Given the description of an element on the screen output the (x, y) to click on. 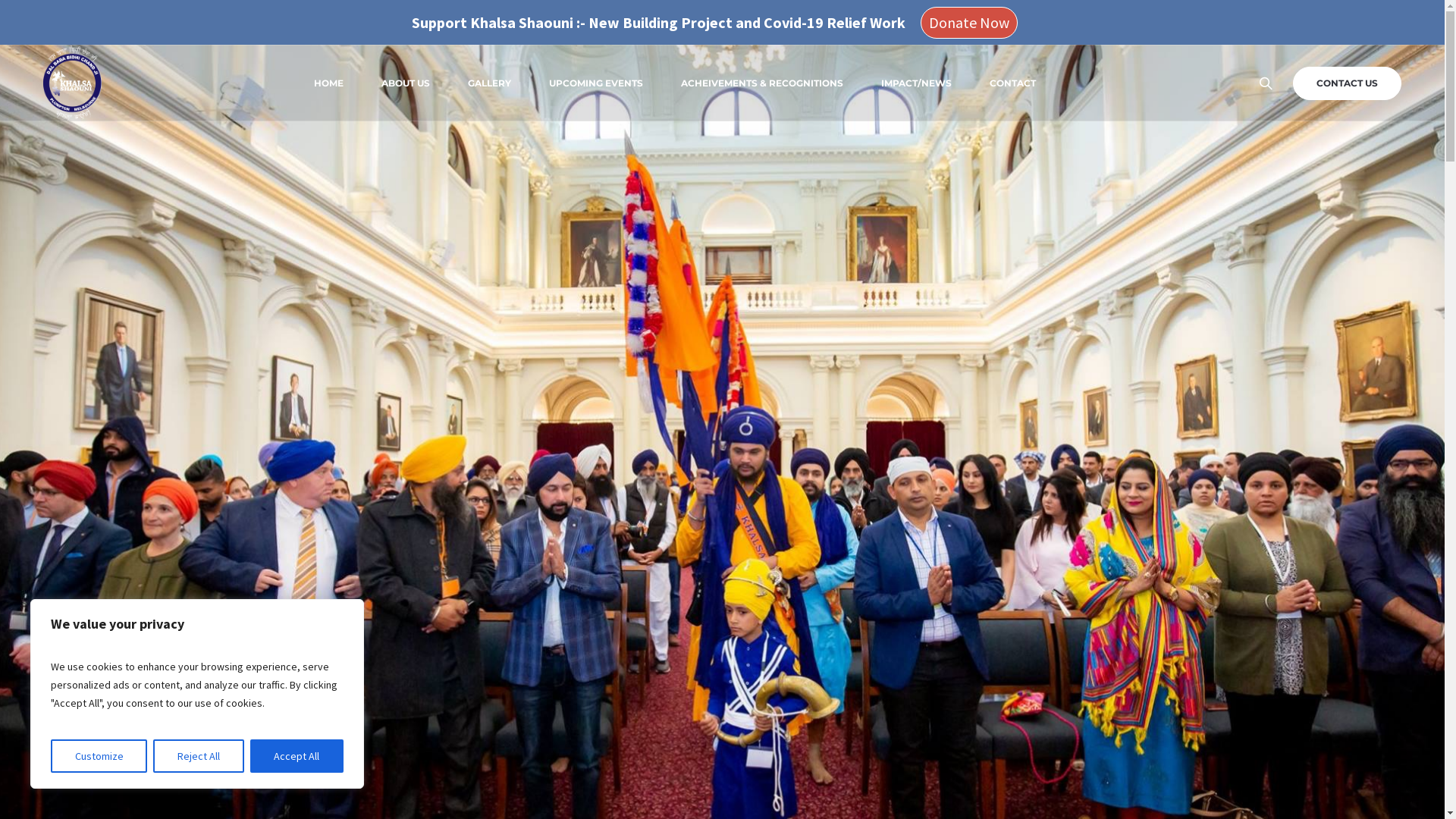
CONTACT Element type: text (1012, 82)
CONTACT US Element type: text (1346, 83)
Customize Element type: text (98, 755)
Donate Now Element type: text (968, 21)
GALLERY Element type: text (489, 82)
IMPACT/NEWS Element type: text (916, 82)
Accept All Element type: text (296, 755)
ABOUT US Element type: text (405, 82)
HOME Element type: text (328, 82)
Reject All Element type: text (198, 755)
UPCOMING EVENTS Element type: text (596, 82)
ACHEIVEMENTS & RECOGNITIONS Element type: text (762, 82)
